Given the description of an element on the screen output the (x, y) to click on. 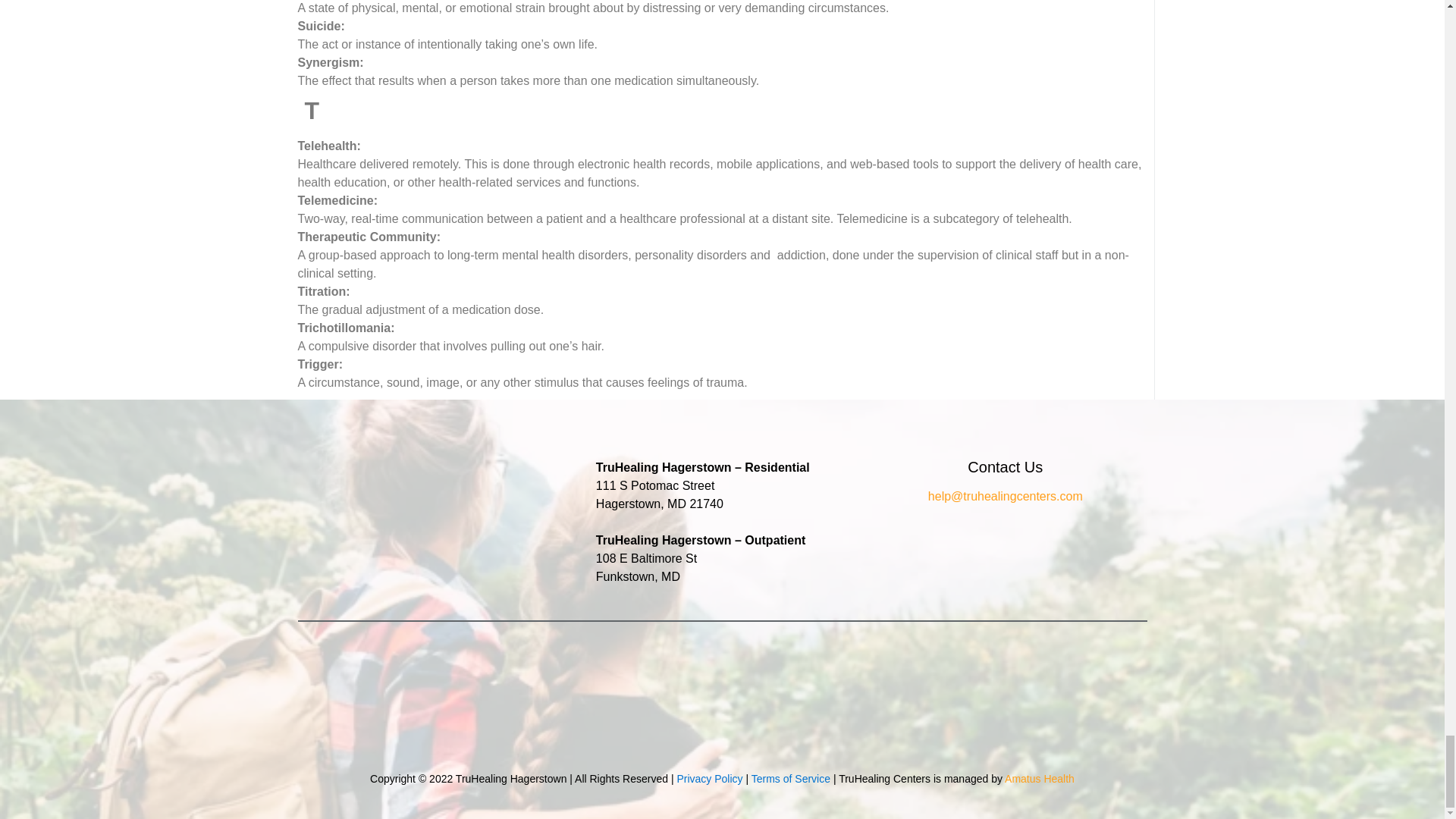
logo-bbb (880, 701)
